Given the description of an element on the screen output the (x, y) to click on. 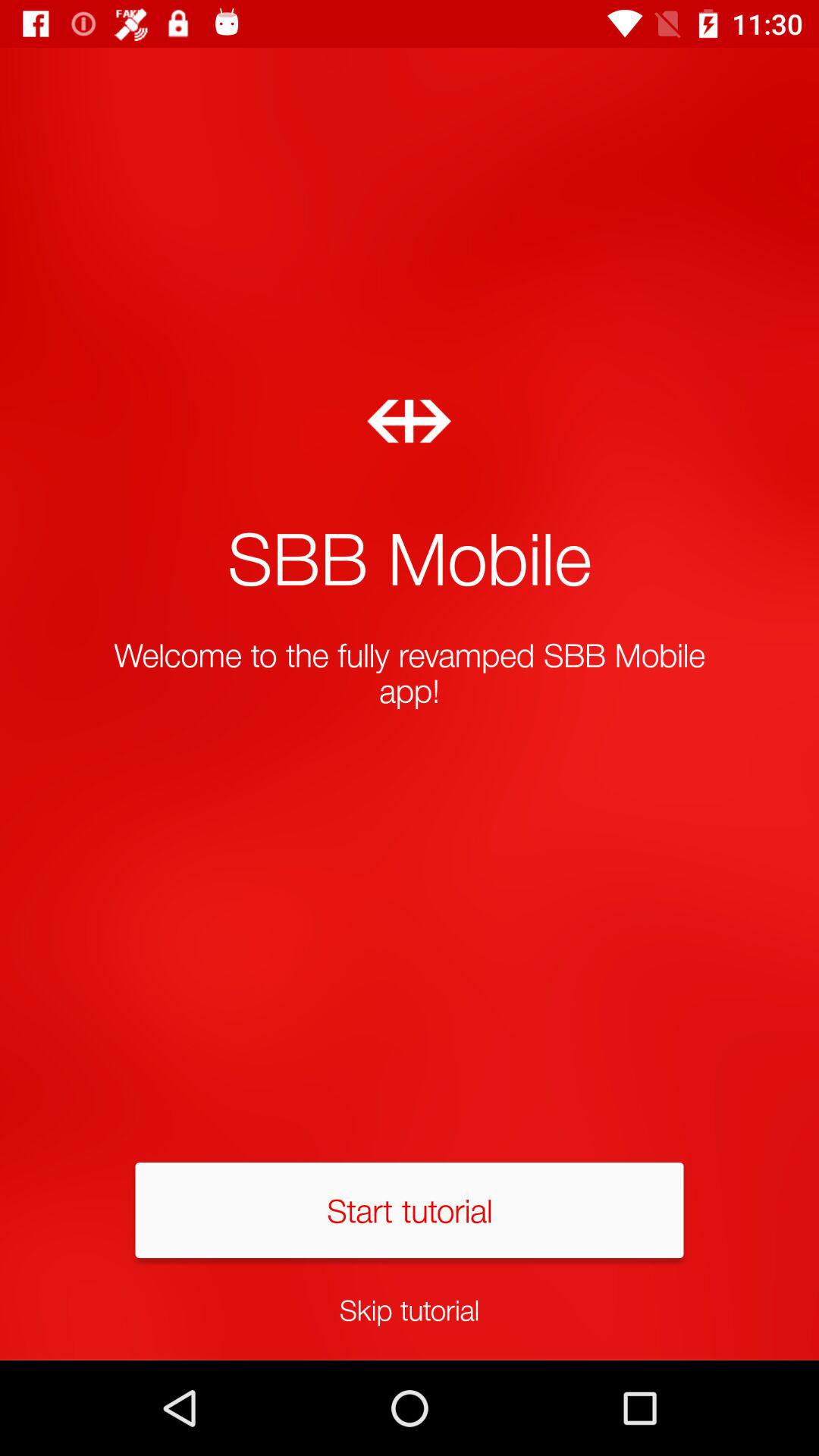
select the start tutorial icon (409, 1210)
